Given the description of an element on the screen output the (x, y) to click on. 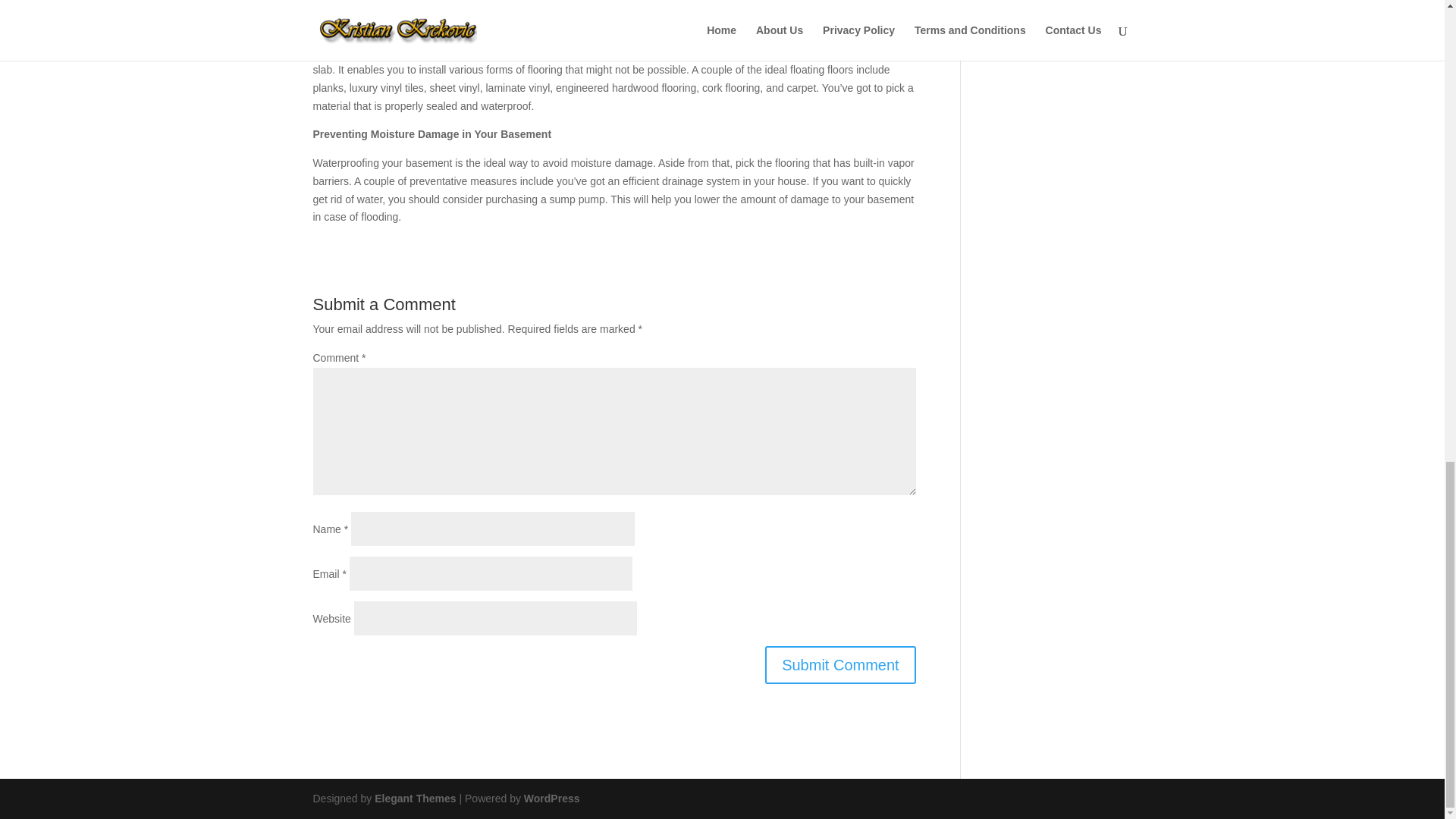
Submit Comment (840, 664)
Elegant Themes (414, 798)
Premium WordPress Themes (414, 798)
Submit Comment (840, 664)
WordPress (551, 798)
